Given the description of an element on the screen output the (x, y) to click on. 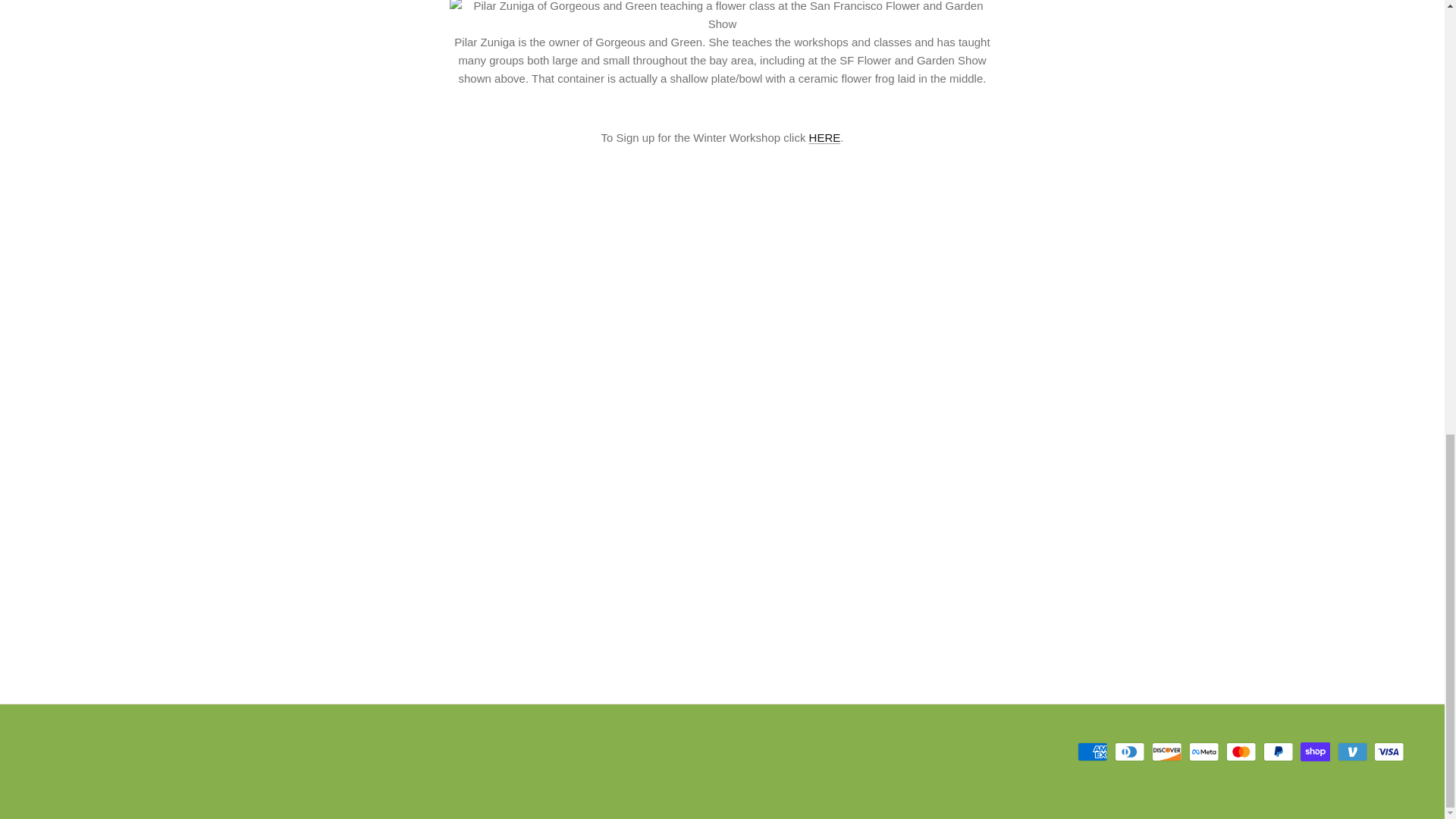
PayPal (1277, 751)
American Express (1092, 751)
Mastercard (1240, 751)
Shop Pay (1315, 751)
Diners Club (1129, 751)
Venmo (1352, 751)
Visa (1388, 751)
HERE (825, 137)
Discover (1166, 751)
